Given the description of an element on the screen output the (x, y) to click on. 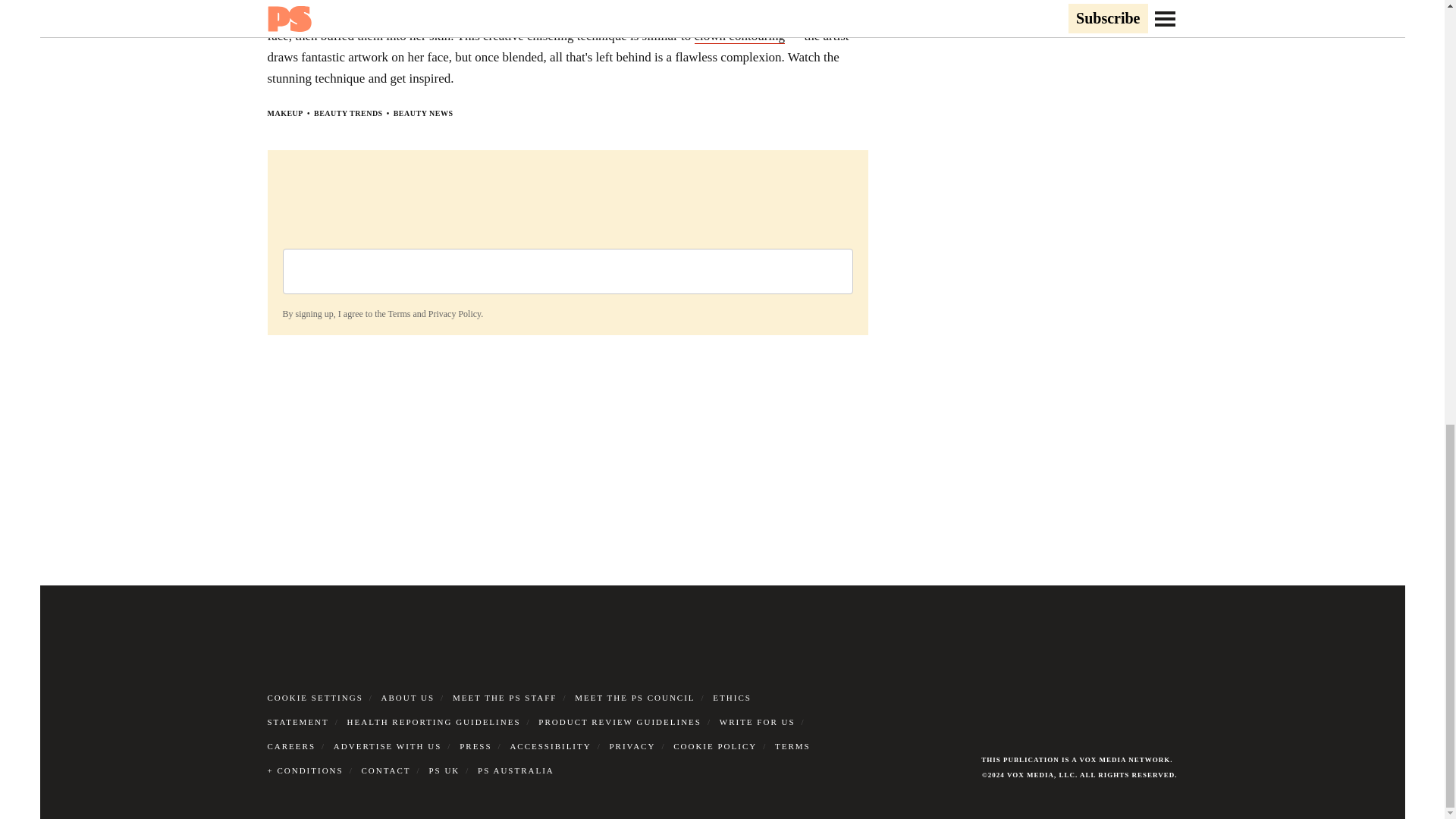
MAKEUP (284, 112)
clown contouring (739, 35)
WRITE FOR US (756, 720)
CAREERS (290, 745)
ACCESSIBILITY (550, 745)
Privacy Policy. (455, 313)
Terms (399, 313)
MEET THE PS COUNCIL (634, 696)
HEALTH REPORTING GUIDELINES (434, 720)
COOKIE POLICY (714, 745)
